Given the description of an element on the screen output the (x, y) to click on. 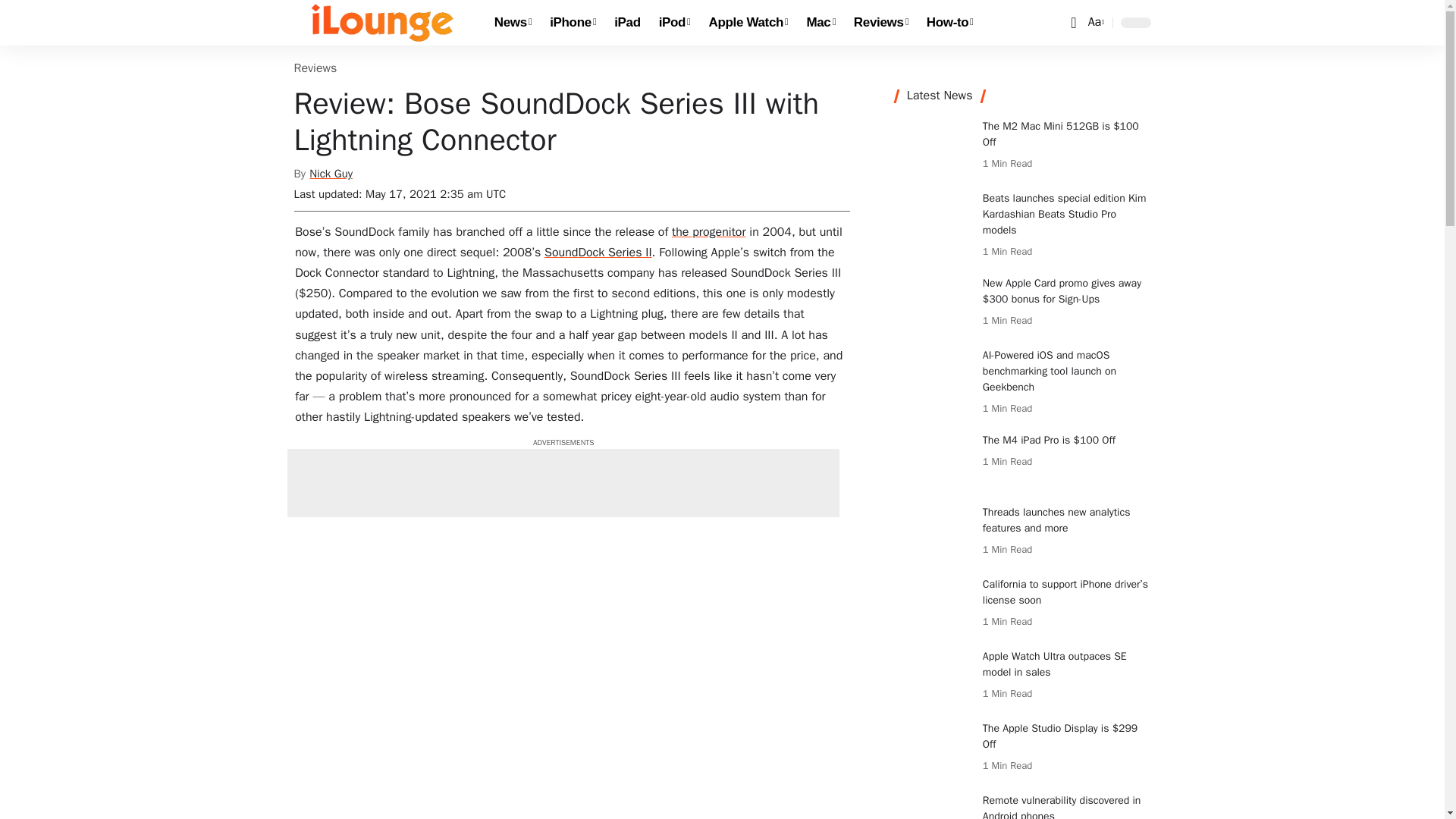
Remote vulnerability discovered in Android phones (933, 805)
Apple Watch (748, 22)
News (512, 22)
iPod (674, 22)
Apple Watch Ultra outpaces SE model in sales (933, 676)
iPad (627, 22)
Threads launches new analytics features and more (933, 532)
iLounge (382, 22)
Reviews (880, 22)
iPhone (572, 22)
